Given the description of an element on the screen output the (x, y) to click on. 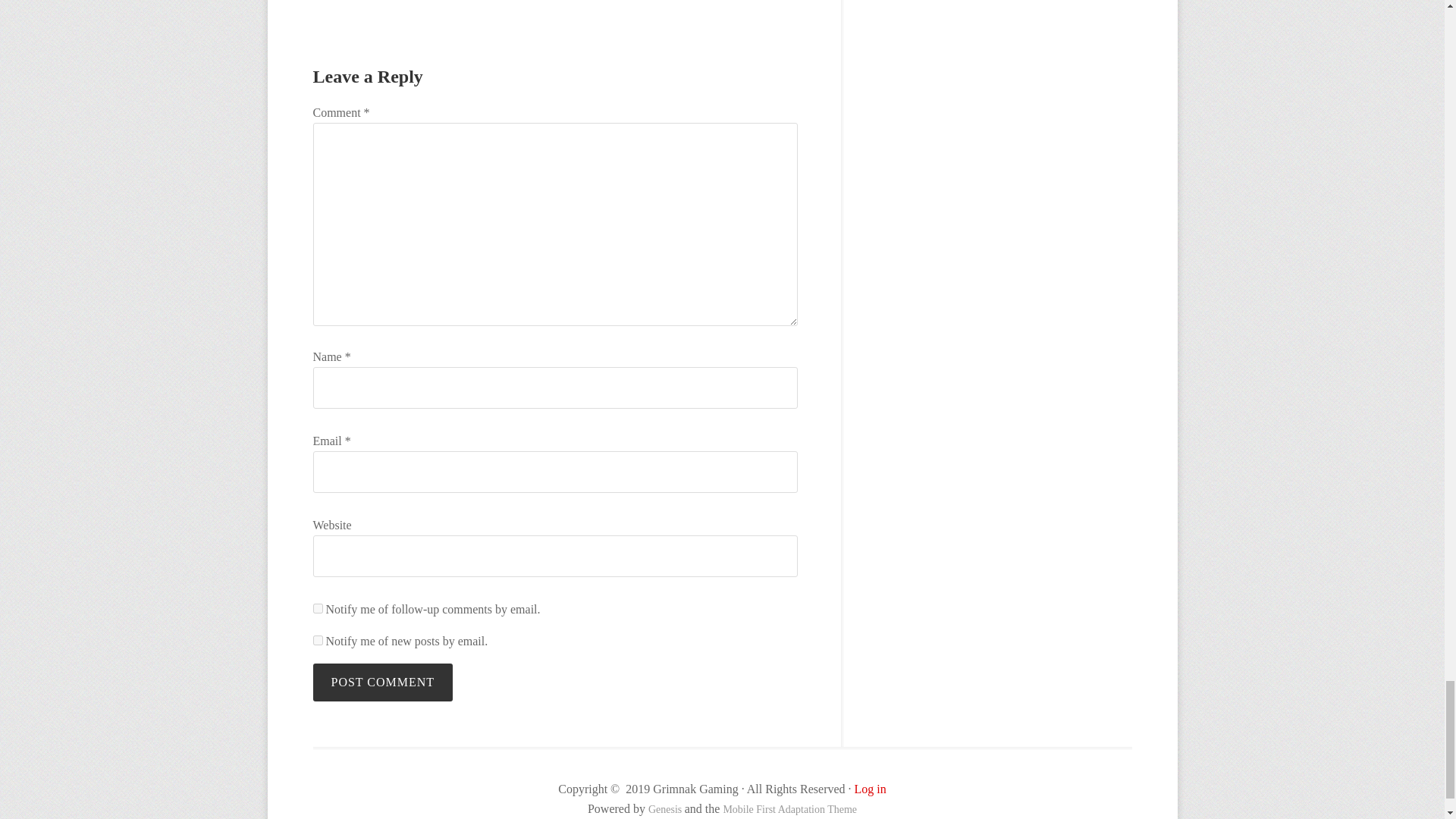
subscribe (317, 608)
subscribe (317, 640)
Mobile First Adaptation Theme (789, 808)
Mobile First Adaptation Theme - Free Genesis Child Theme (789, 808)
Post Comment (382, 682)
Genesis (665, 808)
Post Comment (382, 682)
Log in (870, 788)
Genesis Framework (665, 808)
